Given the description of an element on the screen output the (x, y) to click on. 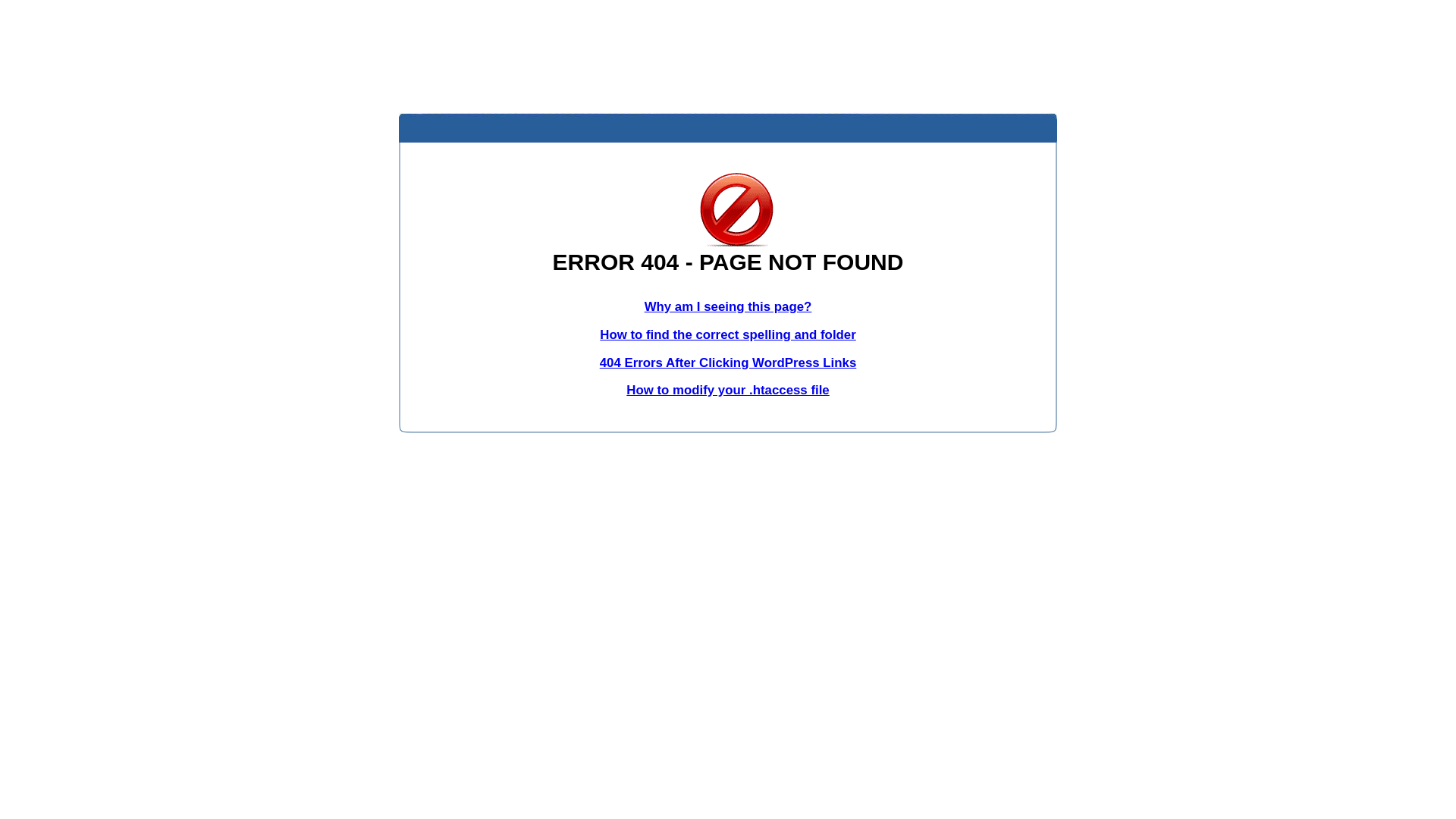
404 Errors After Clicking WordPress Links Element type: text (727, 362)
How to find the correct spelling and folder Element type: text (727, 334)
How to modify your .htaccess file Element type: text (727, 389)
Why am I seeing this page? Element type: text (728, 306)
